Given the description of an element on the screen output the (x, y) to click on. 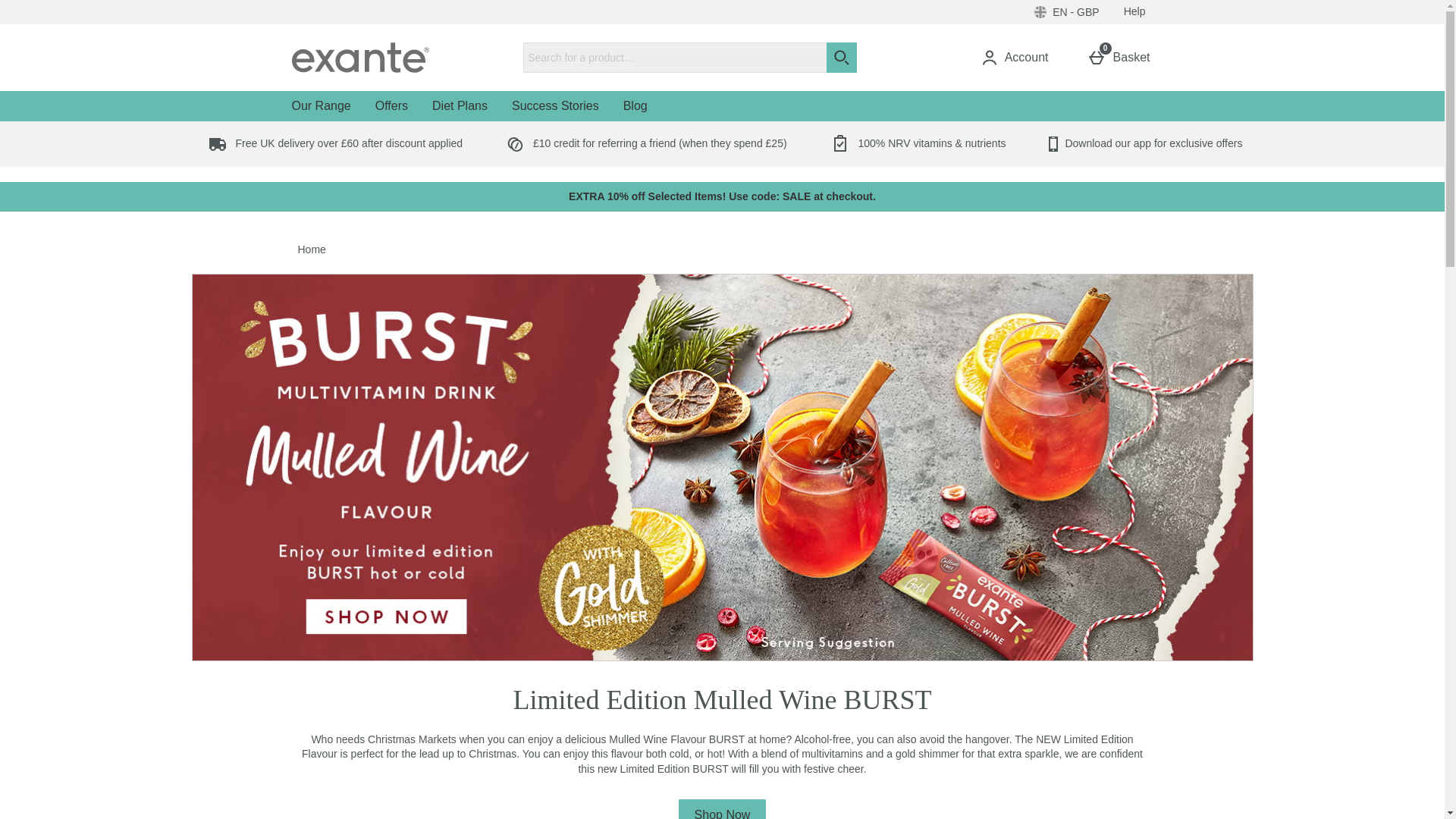
Our Range (320, 105)
Help (1123, 57)
Account (1134, 12)
EN - GBP (1017, 57)
Skip to main content (1066, 12)
Start search (48, 7)
